Given the description of an element on the screen output the (x, y) to click on. 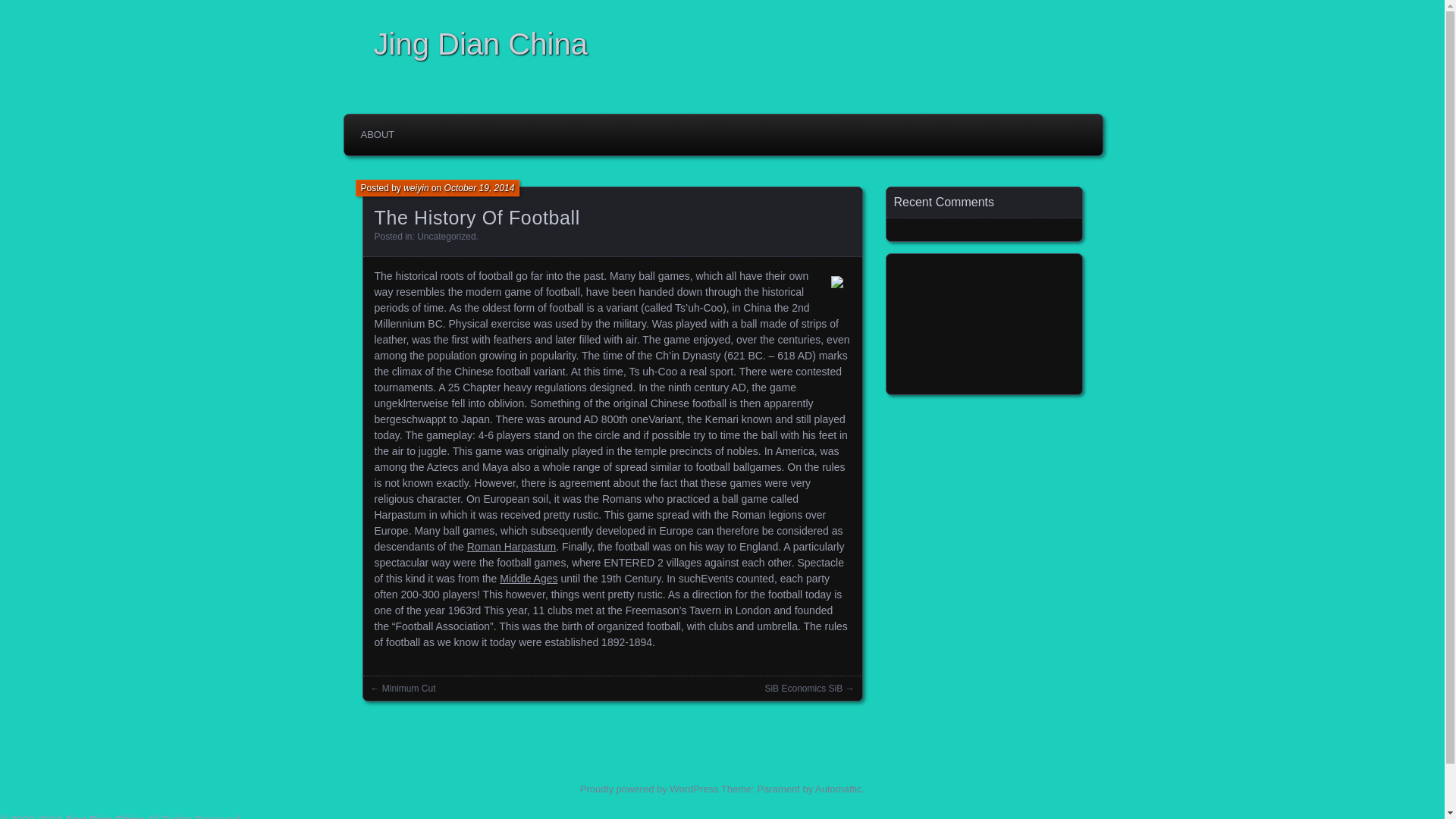
Roman Harpastum (511, 546)
October 19, 2014 (479, 187)
ABOUT (377, 134)
Uncategorized (446, 235)
Jing Dian China (726, 44)
Proudly powered by WordPress (649, 787)
Jing Dian China (104, 816)
weiyin (415, 187)
Middle Ages (528, 578)
SiB Economics SiB (803, 688)
